Given the description of an element on the screen output the (x, y) to click on. 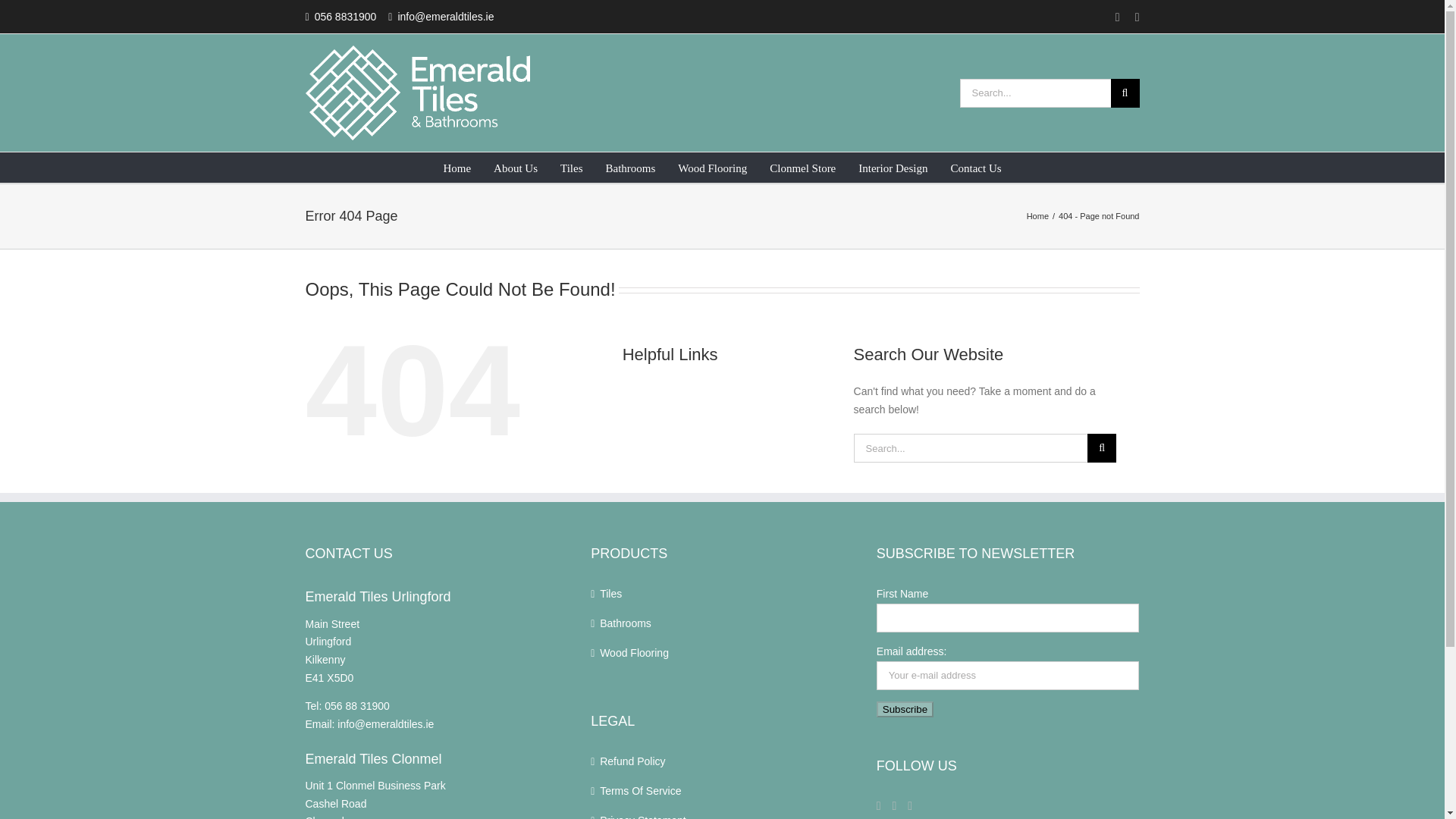
Subscribe (904, 709)
Pinterest (909, 806)
Instagram (1137, 16)
056 8831900  (355, 16)
Tiles (571, 167)
Facebook (1117, 16)
Subscribe (904, 709)
Clonmel Store (802, 167)
Facebook (878, 806)
Refund Policy (707, 761)
Terms Of Service (707, 791)
Home (1037, 215)
Interior Design (893, 167)
Wood Flooring (712, 167)
Privacy Statement (707, 815)
